Given the description of an element on the screen output the (x, y) to click on. 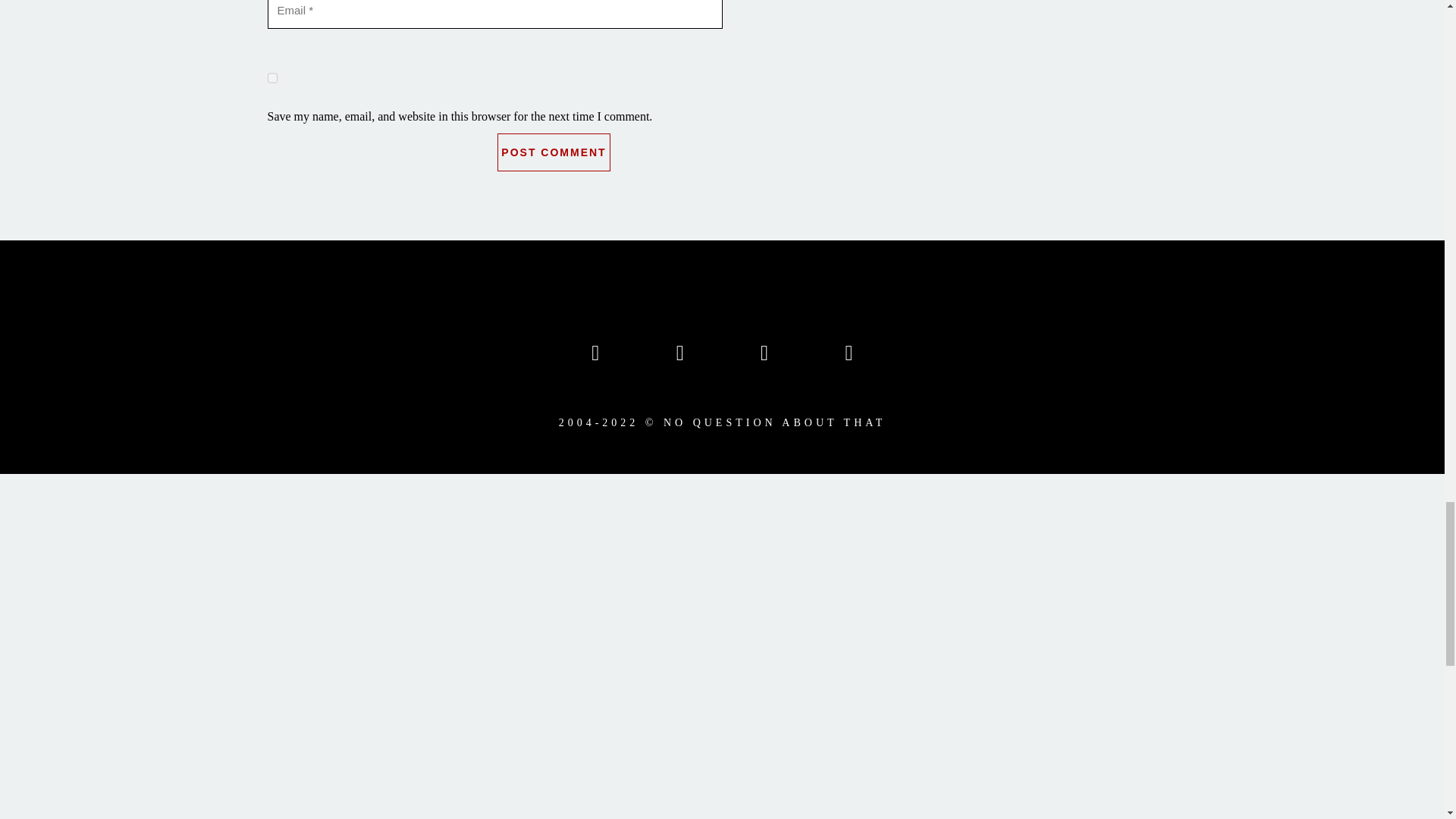
Post Comment (553, 152)
Post Comment (553, 152)
pause (285, 554)
play (325, 554)
